Given the description of an element on the screen output the (x, y) to click on. 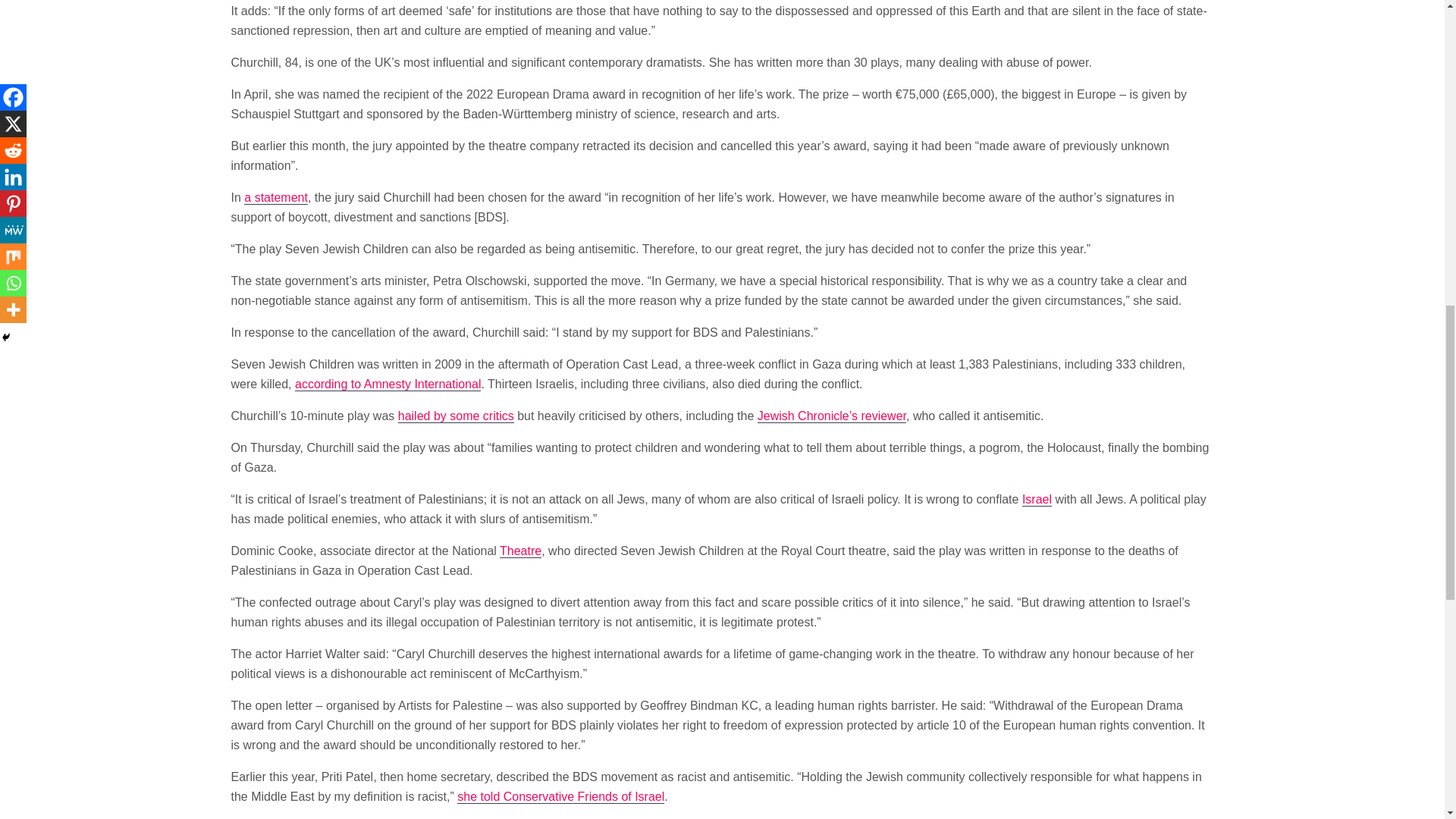
hailed by some critics (455, 416)
according to Amnesty International (387, 384)
a statement (275, 197)
